Given the description of an element on the screen output the (x, y) to click on. 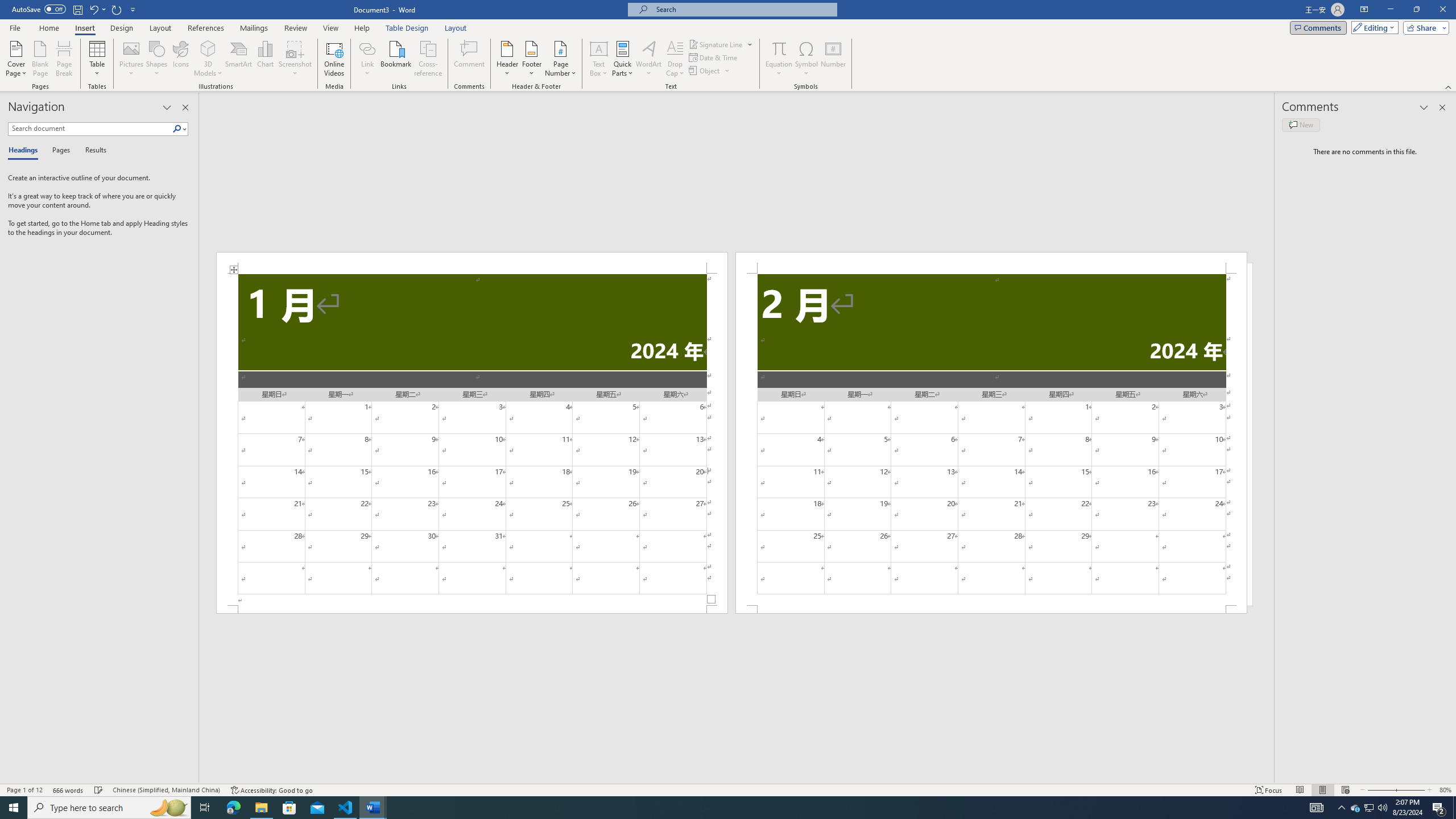
SmartArt... (238, 58)
Page Break (63, 58)
Number... (833, 58)
Microsoft search (742, 9)
Object... (709, 69)
Spelling and Grammar Check Checking (98, 790)
Signature Line (716, 44)
Blank Page (40, 58)
